Given the description of an element on the screen output the (x, y) to click on. 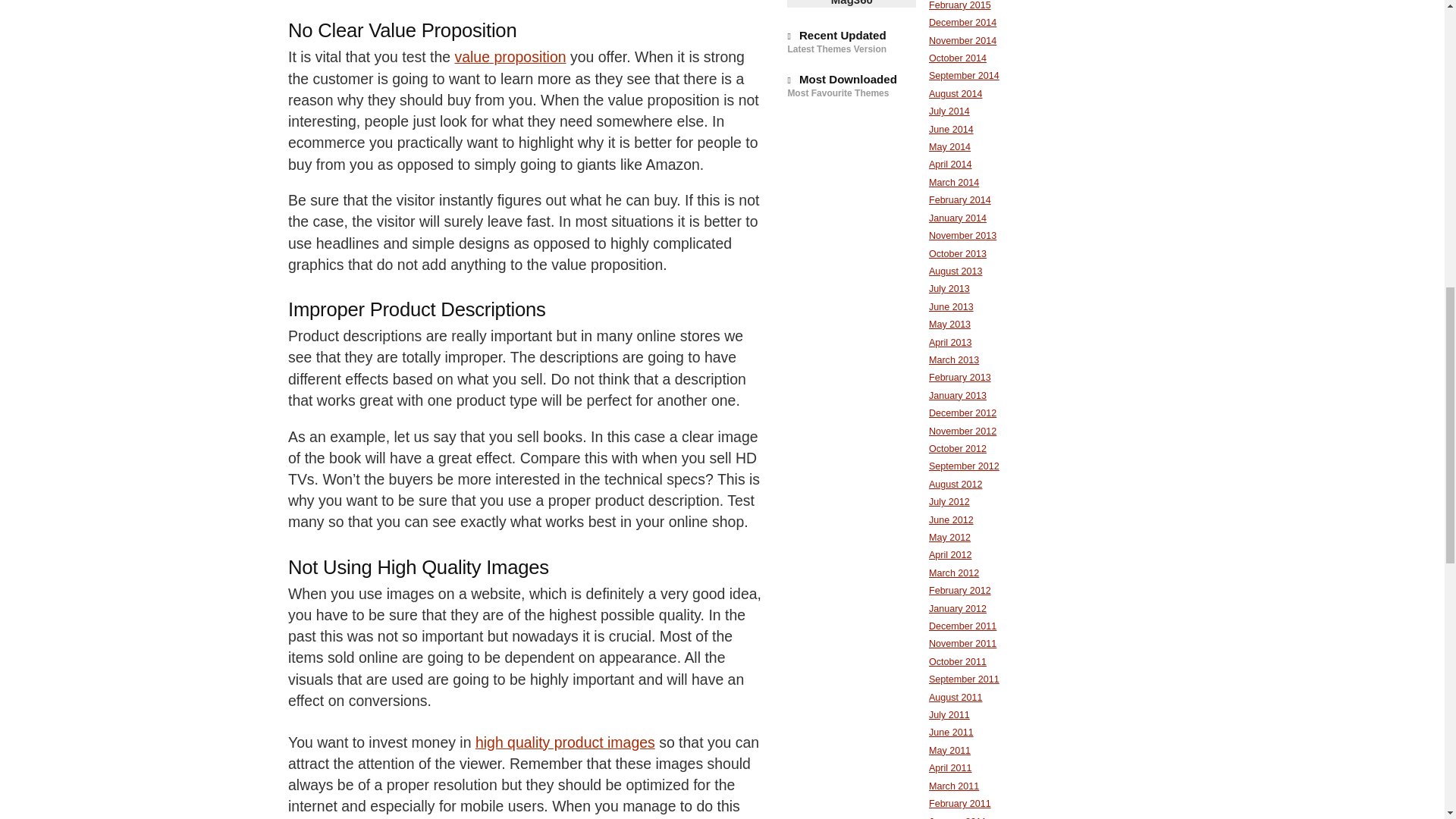
high quality product images (565, 742)
value proposition (510, 56)
